Given the description of an element on the screen output the (x, y) to click on. 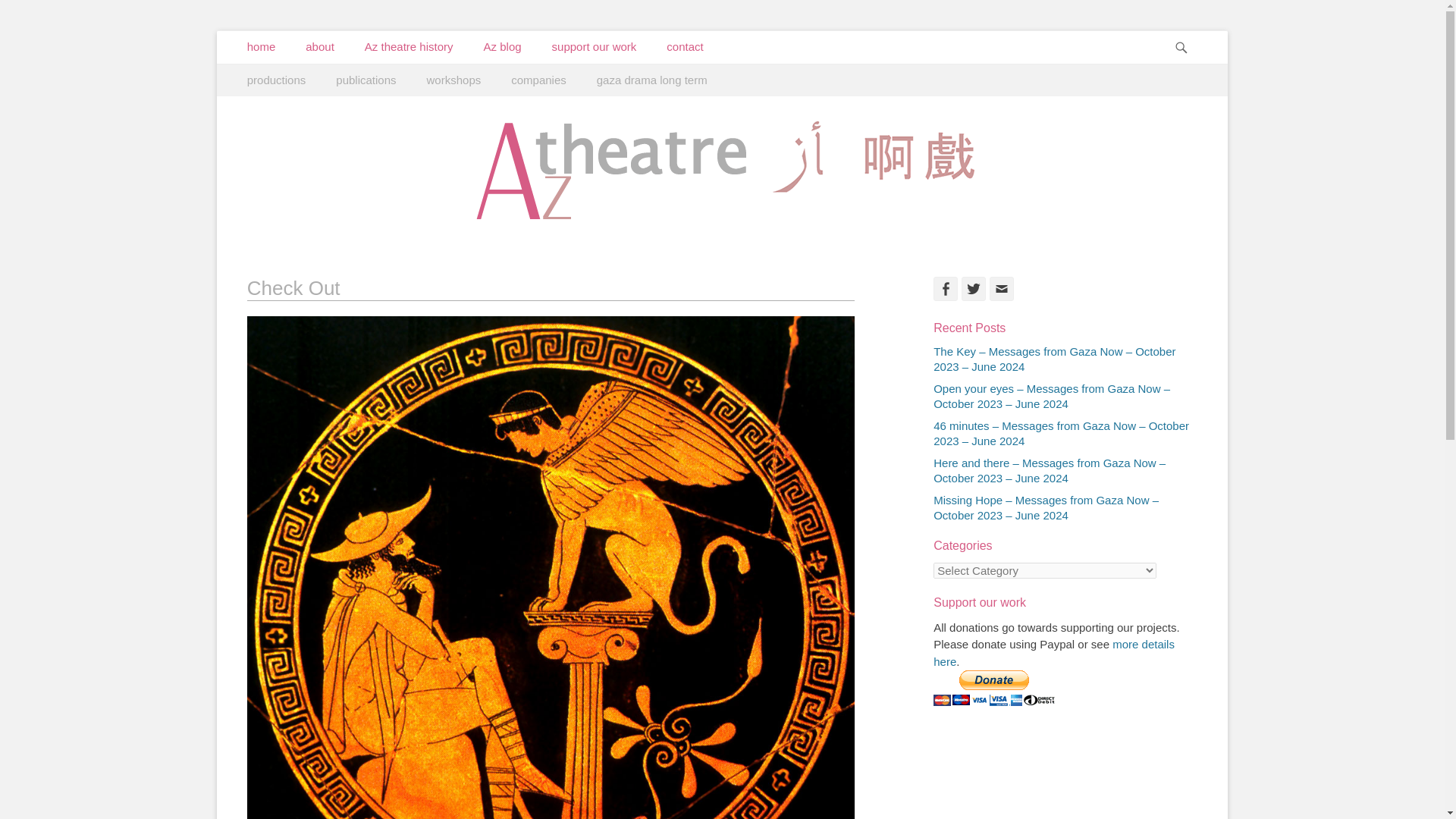
Email (1001, 288)
gaza drama long term (651, 79)
home (261, 47)
Email (1001, 288)
Facebook (945, 288)
contact (683, 47)
Az blog (502, 47)
Facebook (945, 288)
about (319, 47)
Twitter (972, 288)
Twitter (972, 288)
publications (365, 79)
support our work (594, 47)
productions (276, 79)
